Given the description of an element on the screen output the (x, y) to click on. 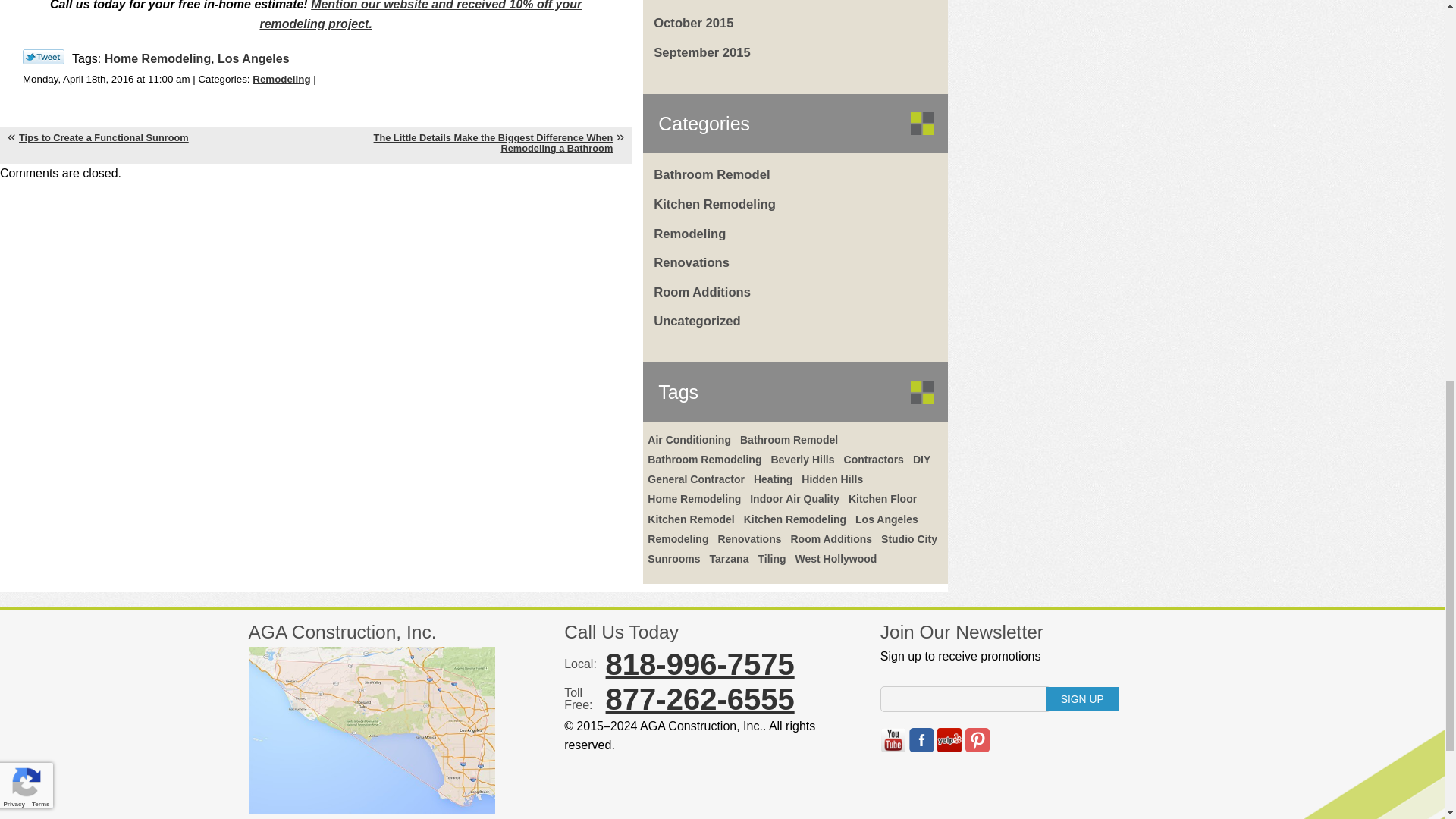
View a map of our service areas (371, 810)
